Given the description of an element on the screen output the (x, y) to click on. 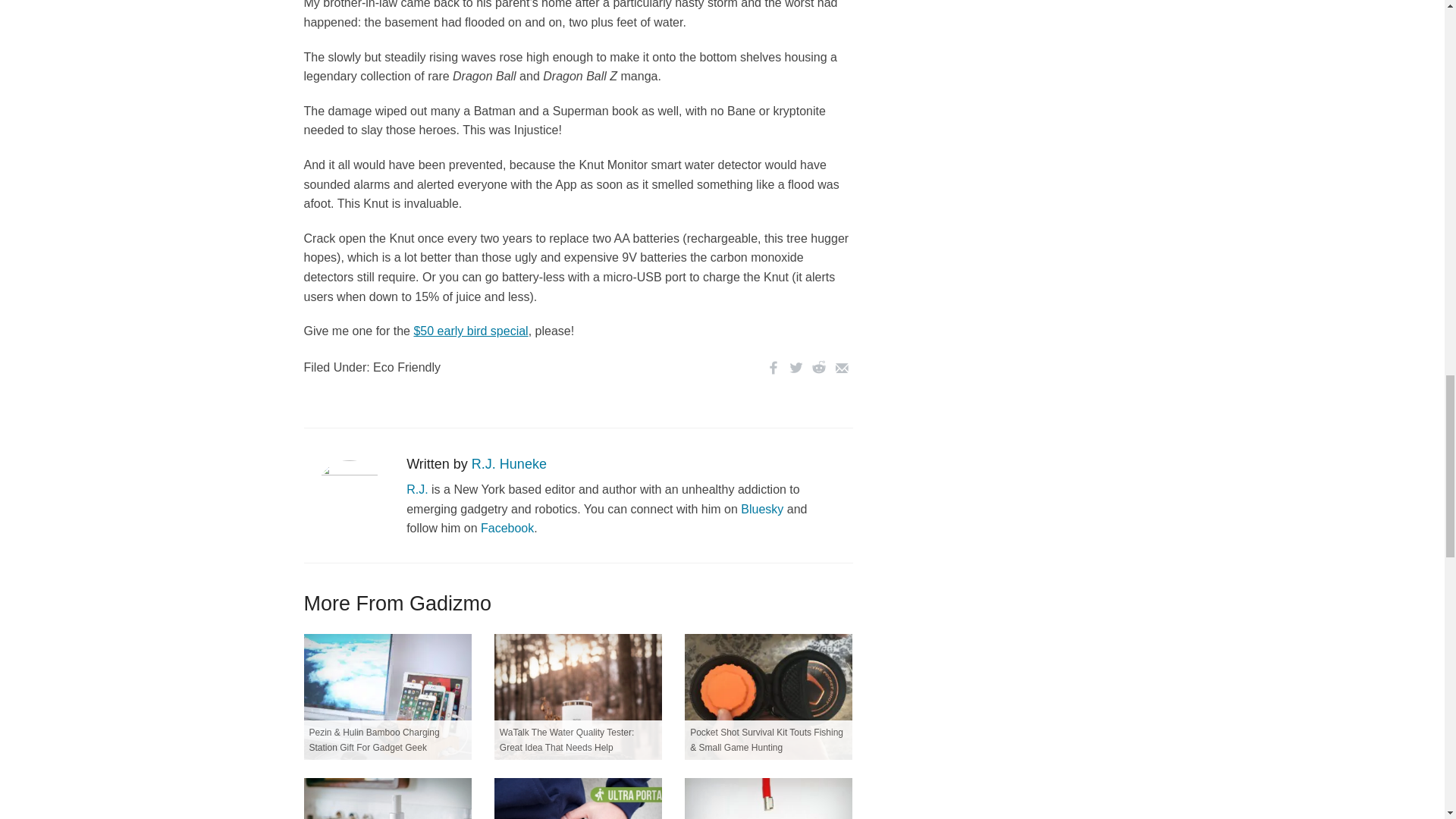
Posts by R.J. Huneke (509, 463)
Tweet this! (795, 367)
WaTalk The Water Quality Tester: Great Idea That Needs Help (578, 696)
Submit to Reddit (817, 367)
Eco Friendly (406, 367)
Share on Facebook (772, 367)
Mail (840, 367)
R.J. Huneke (509, 463)
Sonny: Portable Bidet For Eco-Conscious Toilet Party (386, 798)
SolarCru: Smallest Lightest Foldable Solar Panel Charger (578, 798)
View all posts in Eco Friendly (406, 367)
